Given the description of an element on the screen output the (x, y) to click on. 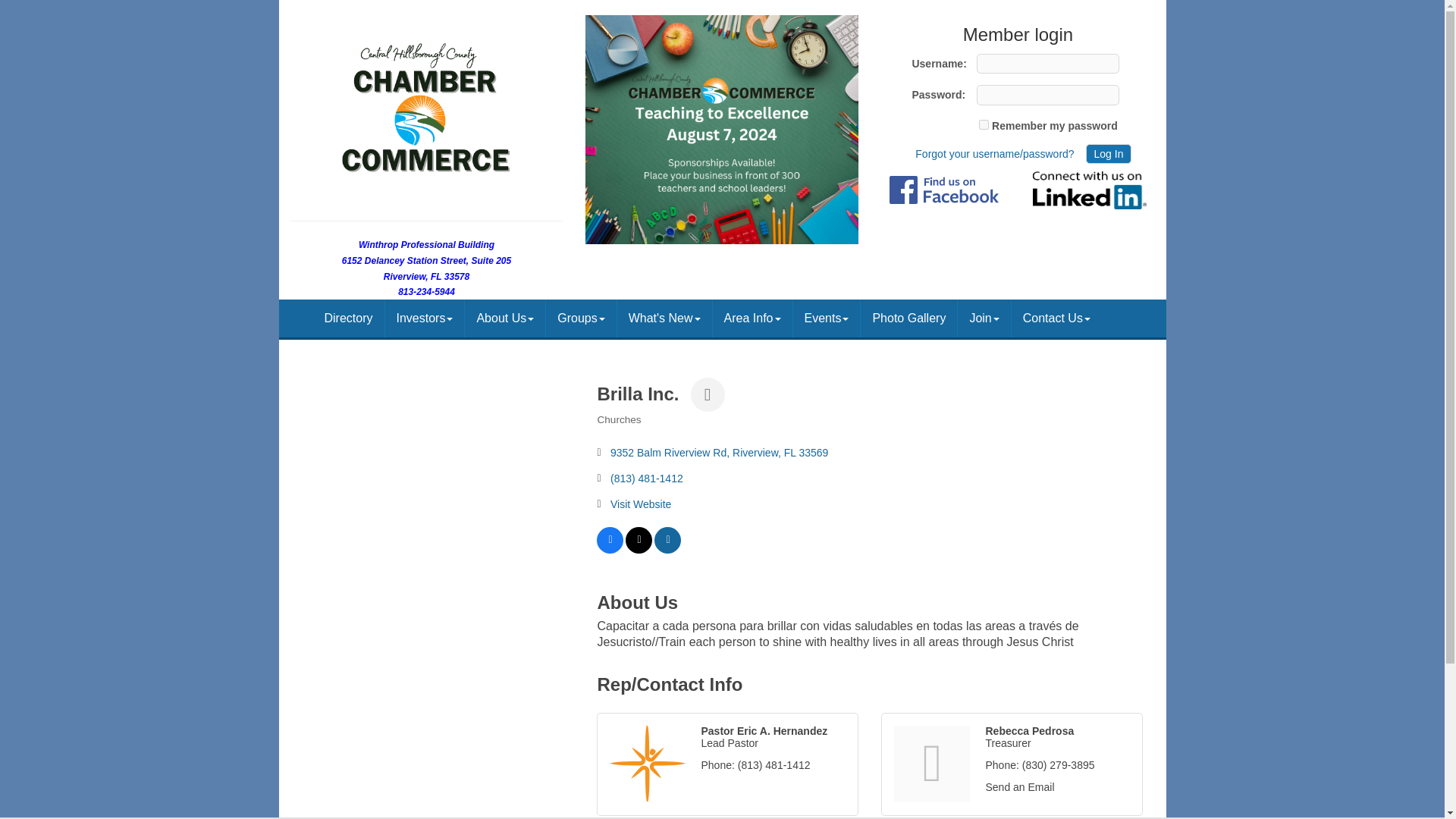
Events (826, 318)
Join (984, 318)
Groups (580, 318)
View on Facebook (609, 549)
Log In (1109, 153)
Area Info (752, 318)
About Us (504, 318)
True (983, 124)
Log In (1109, 153)
Directory (348, 318)
View on Twitter (639, 549)
Photo Gallery (908, 318)
What's New (664, 318)
View on You Tube (667, 549)
Investors (424, 318)
